Given the description of an element on the screen output the (x, y) to click on. 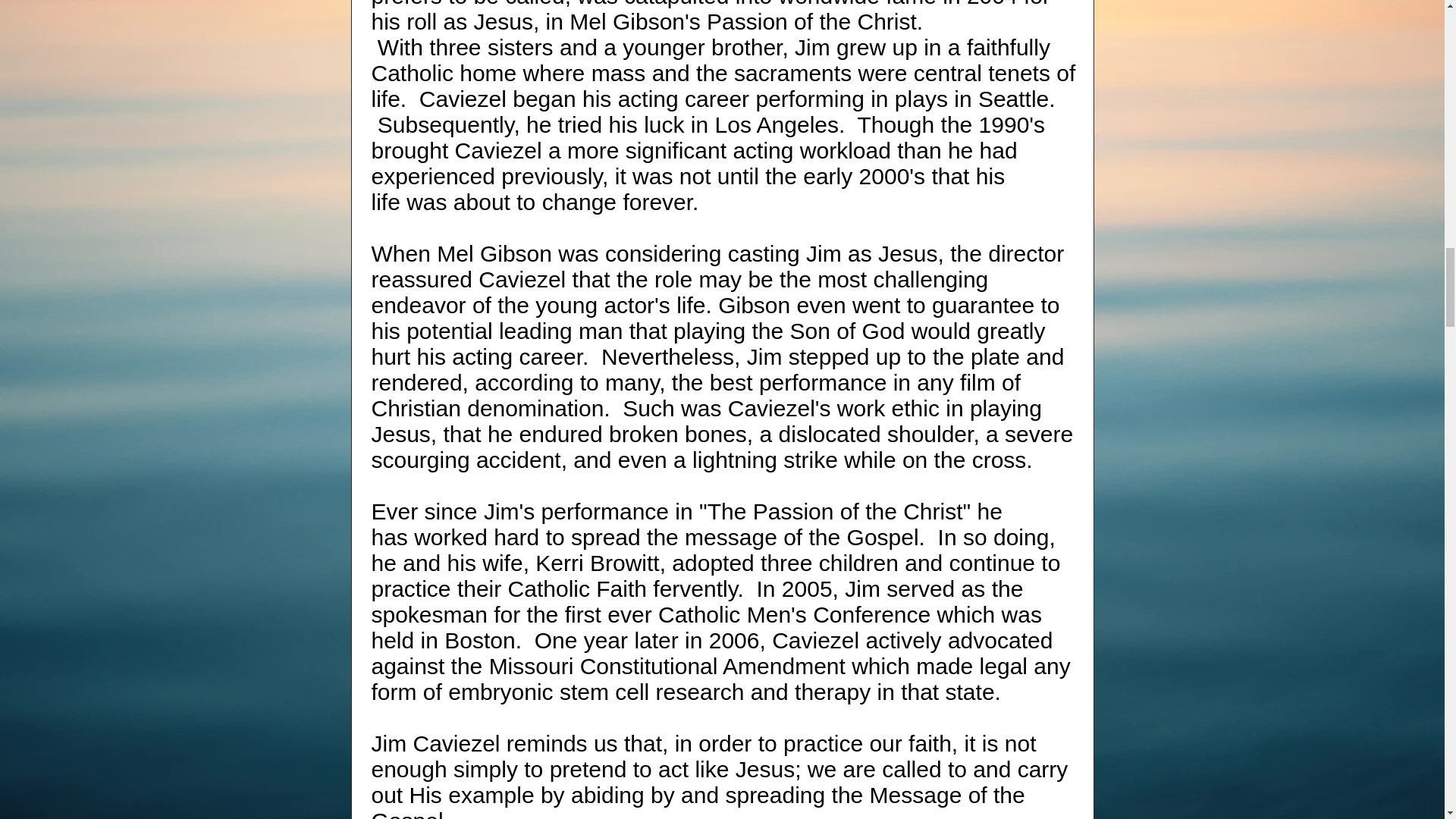
Missouri Constitutional Amendment (667, 665)
embryonic stem cell research (596, 691)
